Given the description of an element on the screen output the (x, y) to click on. 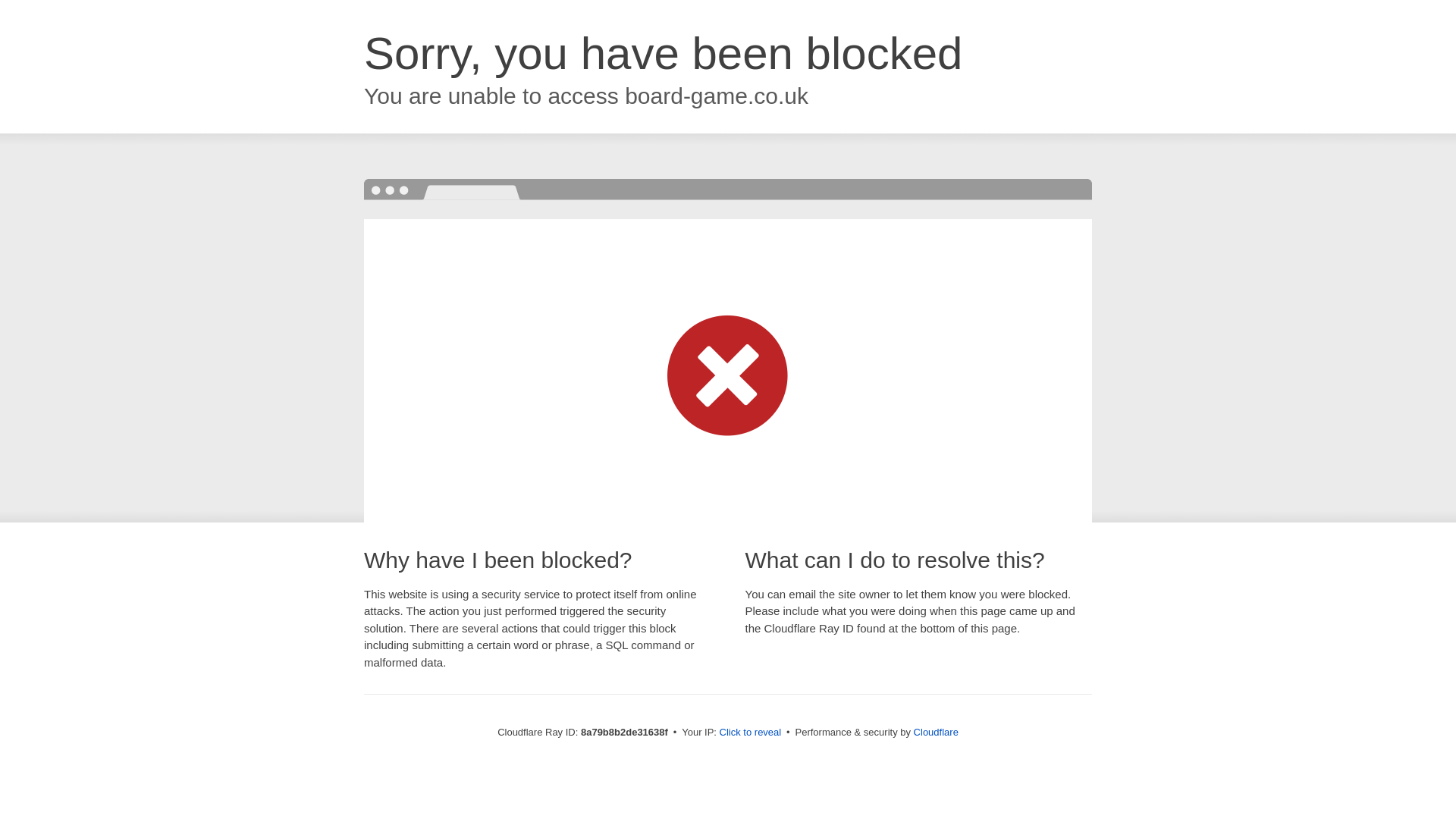
Cloudflare (936, 731)
Click to reveal (750, 732)
